Given the description of an element on the screen output the (x, y) to click on. 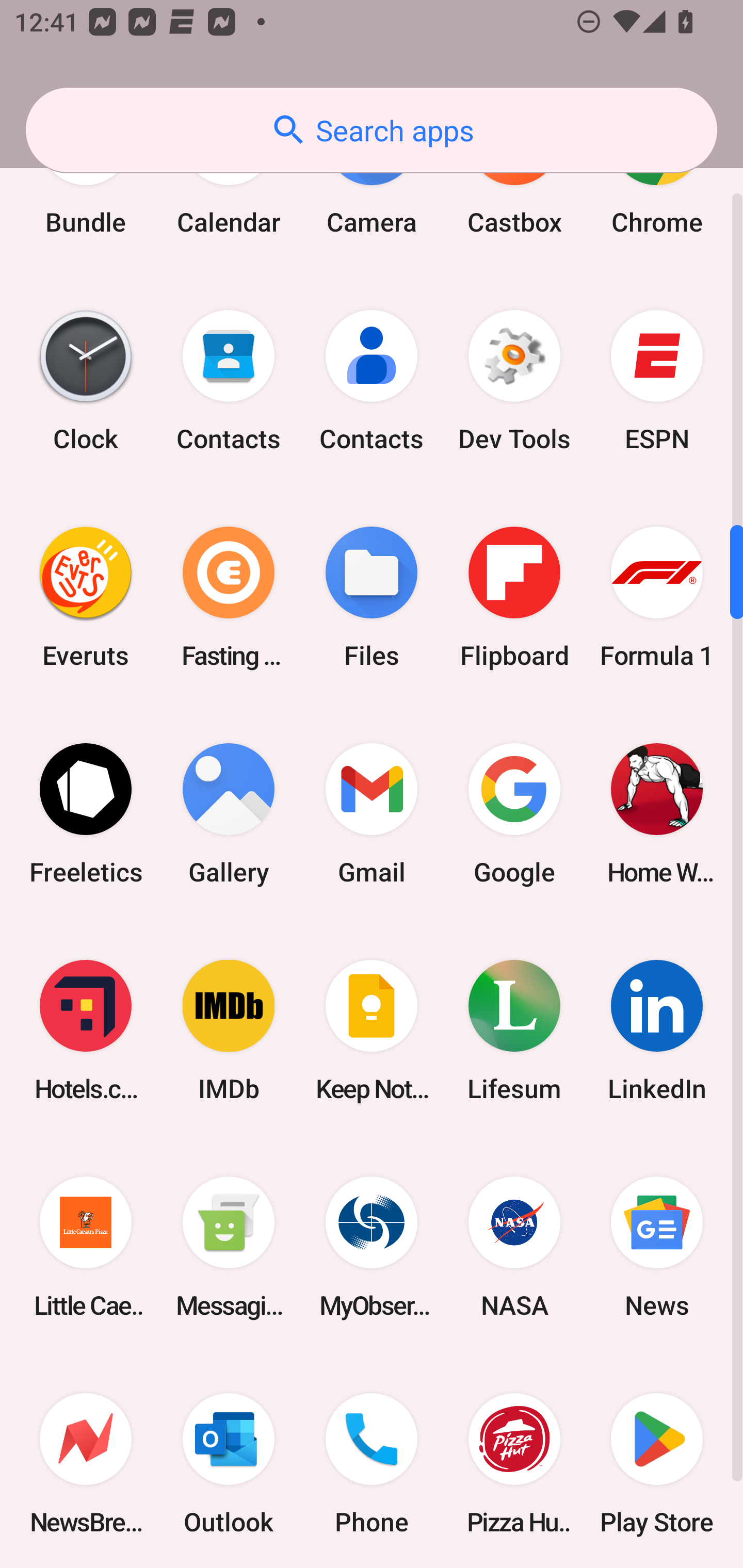
  Search apps (371, 130)
Clock (85, 380)
Contacts (228, 380)
Contacts (371, 380)
Dev Tools (514, 380)
ESPN (656, 380)
Everuts (85, 597)
Fasting Coach (228, 597)
Files (371, 597)
Flipboard (514, 597)
Formula 1 (656, 597)
Freeletics (85, 813)
Gallery (228, 813)
Gmail (371, 813)
Google (514, 813)
Home Workout (656, 813)
Hotels.com (85, 1029)
IMDb (228, 1029)
Keep Notes (371, 1029)
Lifesum (514, 1029)
LinkedIn (656, 1029)
Little Caesars Pizza (85, 1246)
Messaging (228, 1246)
MyObservatory (371, 1246)
NASA (514, 1246)
News (656, 1246)
NewsBreak (85, 1461)
Outlook (228, 1461)
Phone (371, 1461)
Pizza Hut HK & Macau (514, 1461)
Play Store (656, 1461)
